Given the description of an element on the screen output the (x, y) to click on. 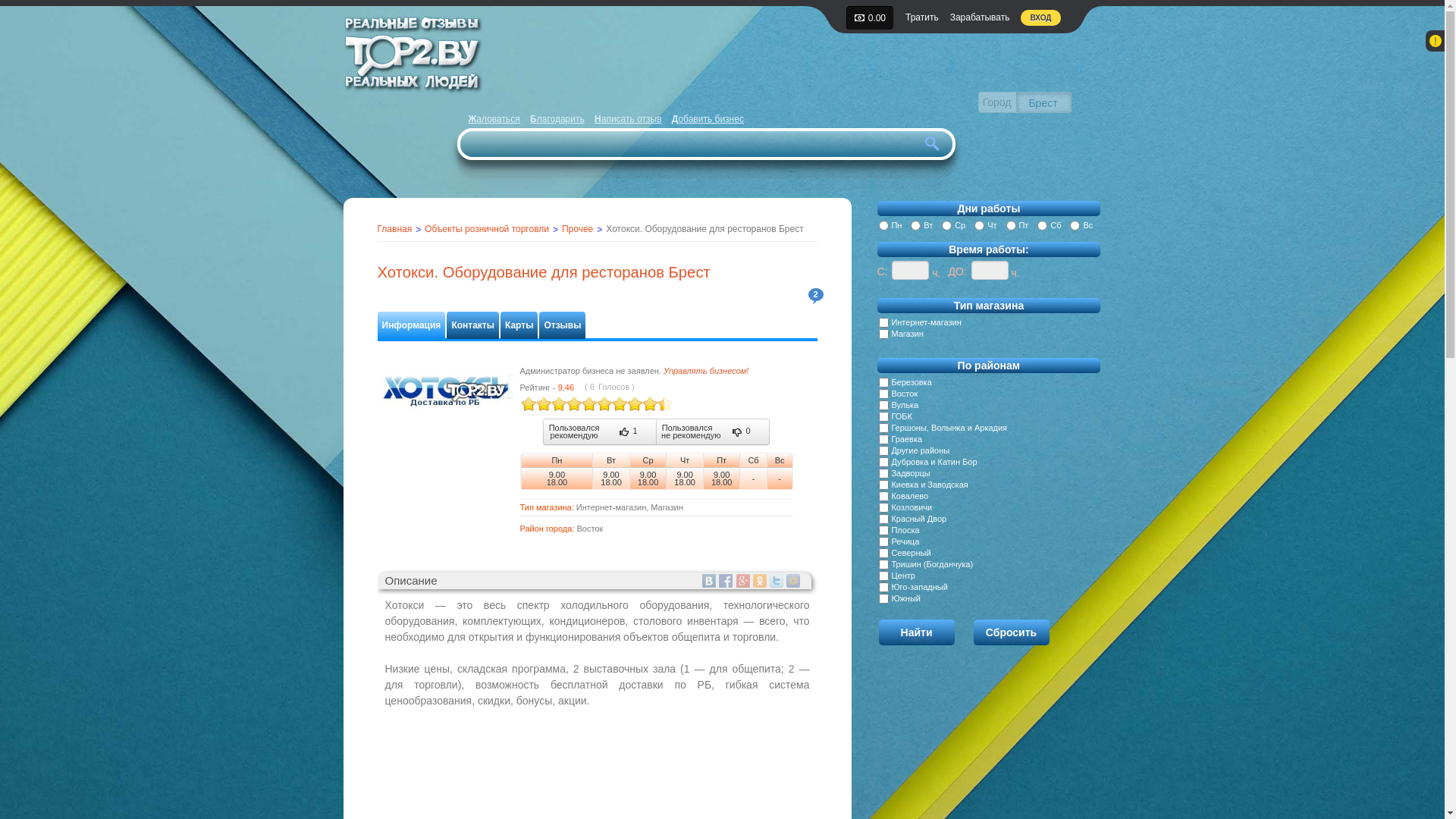
5 Element type: text (558, 403)
10 Element type: text (595, 403)
9 Element type: text (588, 403)
8 Element type: text (580, 403)
4 Element type: text (550, 403)
2 Element type: text (815, 296)
2 Element type: text (535, 403)
3 Element type: text (542, 403)
6 Element type: text (565, 403)
1 Element type: text (527, 403)
7 Element type: text (573, 403)
